Given the description of an element on the screen output the (x, y) to click on. 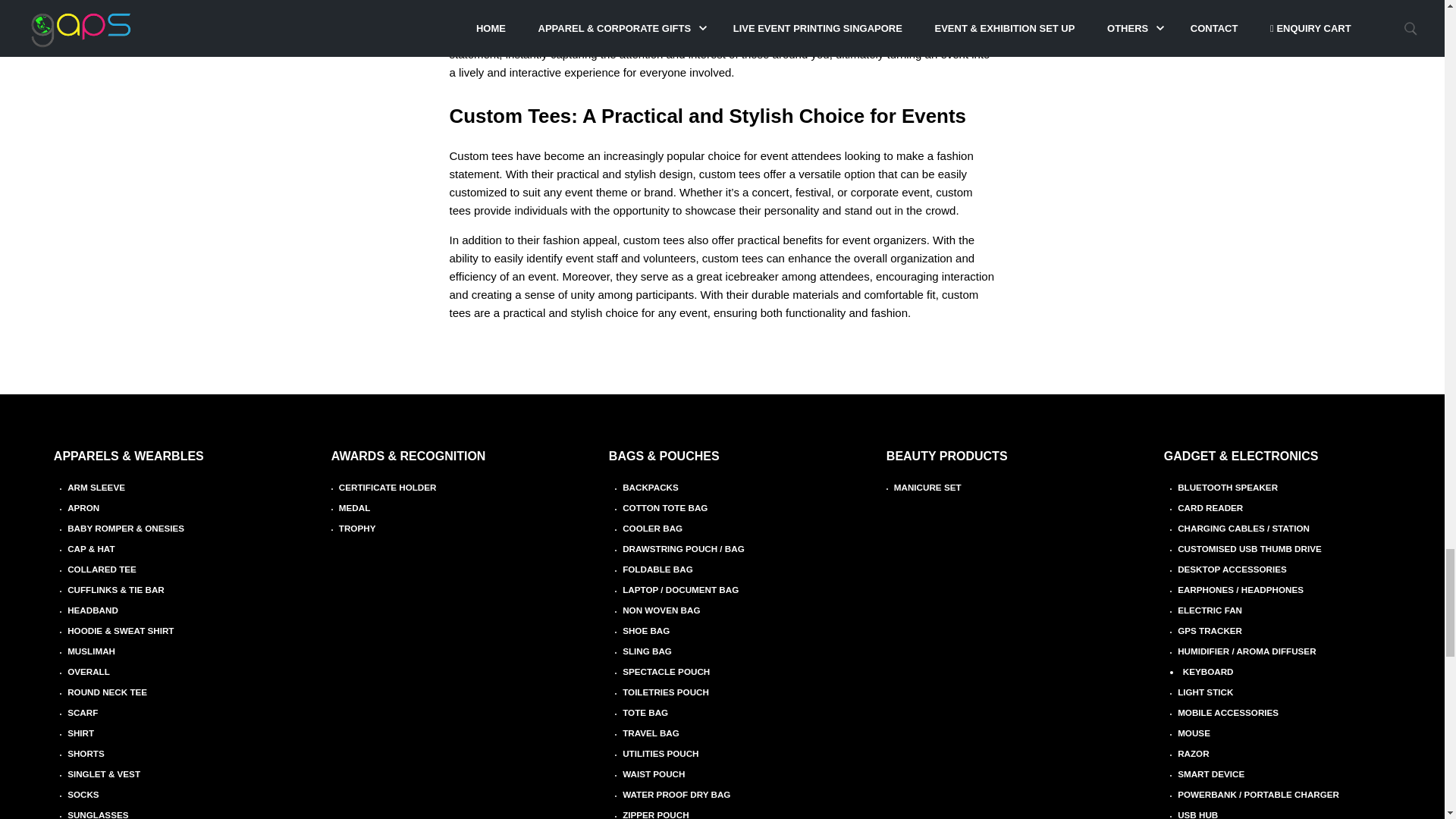
ARM SLEEVE (95, 487)
COLLARED TEE (101, 569)
APRON (82, 507)
